Given the description of an element on the screen output the (x, y) to click on. 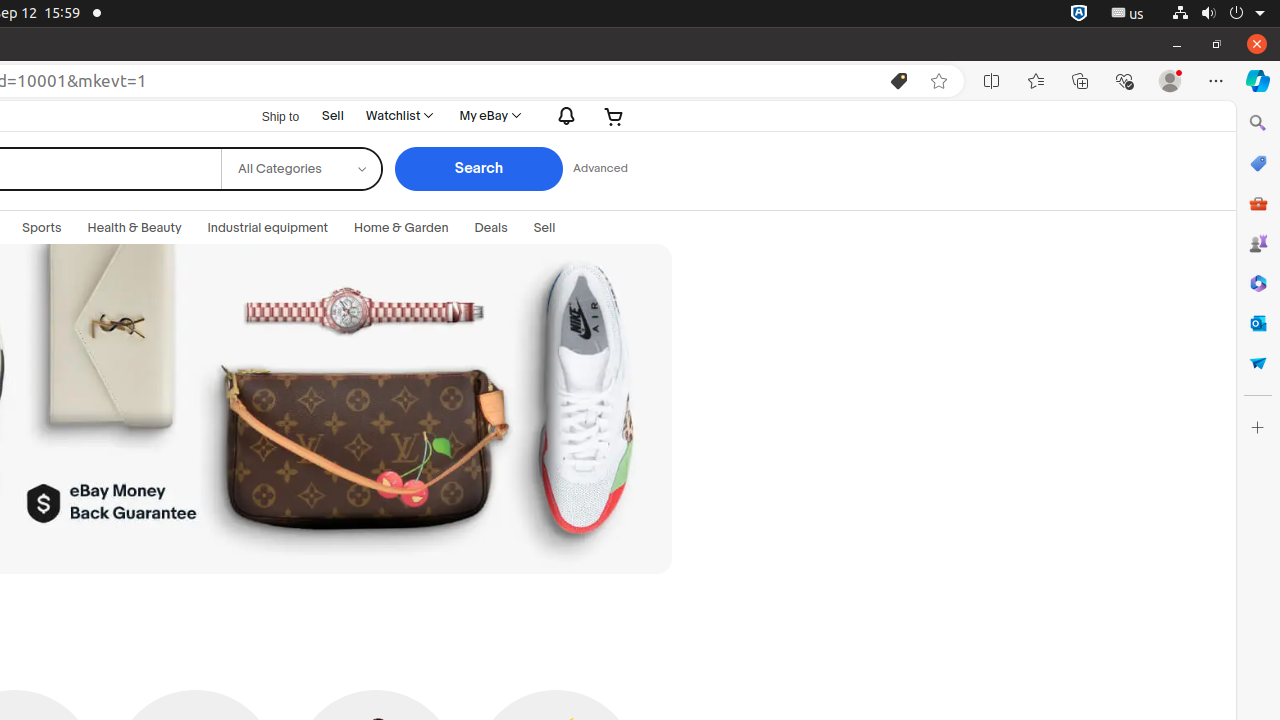
Settings and more (Alt+F) Element type: push-button (1216, 81)
Notifications Element type: push-button (562, 116)
Ship to Element type: push-button (268, 117)
Drop Element type: push-button (1258, 363)
Outlook Element type: push-button (1258, 323)
